Given the description of an element on the screen output the (x, y) to click on. 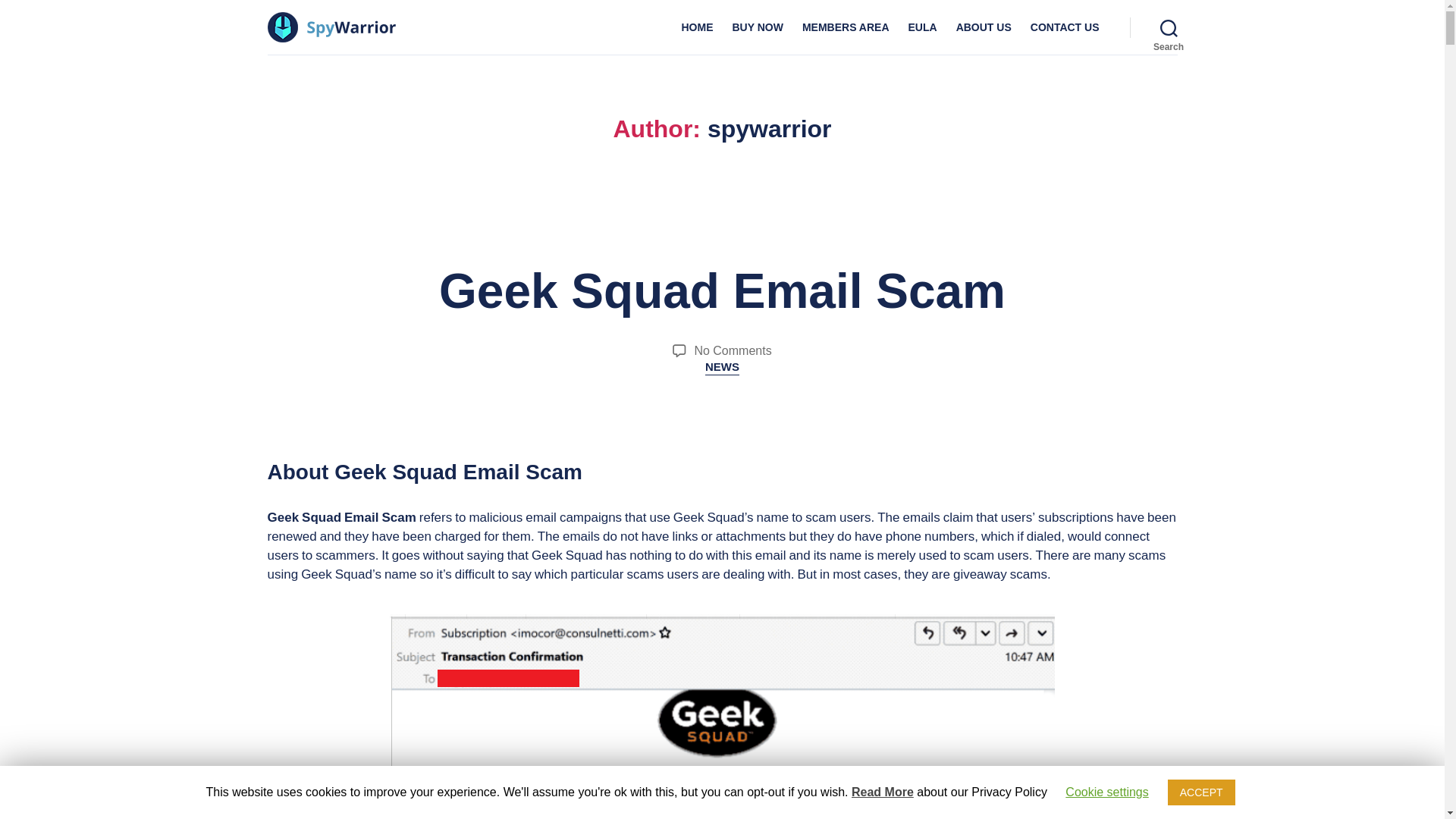
Geek Squad Email Scam (732, 350)
BUY NOW (722, 290)
ABOUT US (757, 27)
Search (983, 27)
CONTACT US (1168, 27)
MEMBERS AREA (1064, 27)
NEWS (845, 27)
